Given the description of an element on the screen output the (x, y) to click on. 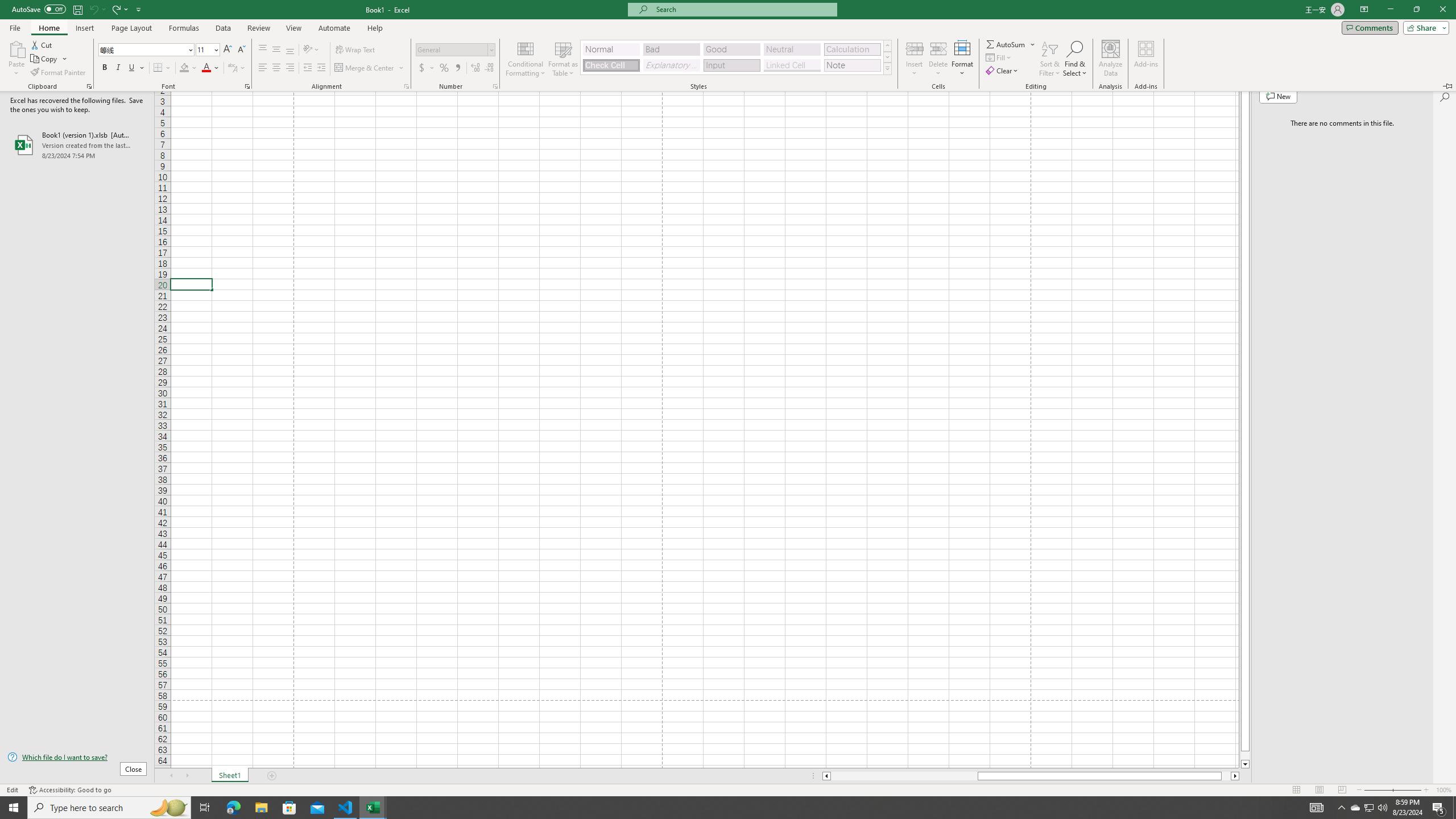
Class: MsoCommandBar (728, 789)
Restore Down (1416, 9)
Add Sheet (272, 775)
Sheet1 (229, 775)
File Tab (1368, 807)
Page Layout (15, 27)
User Promoted Notification Area (1318, 790)
Visual Studio Code - 1 running window (1368, 807)
Page Layout (345, 807)
Column left (131, 28)
File Explorer (826, 775)
More Options (261, 807)
